Given the description of an element on the screen output the (x, y) to click on. 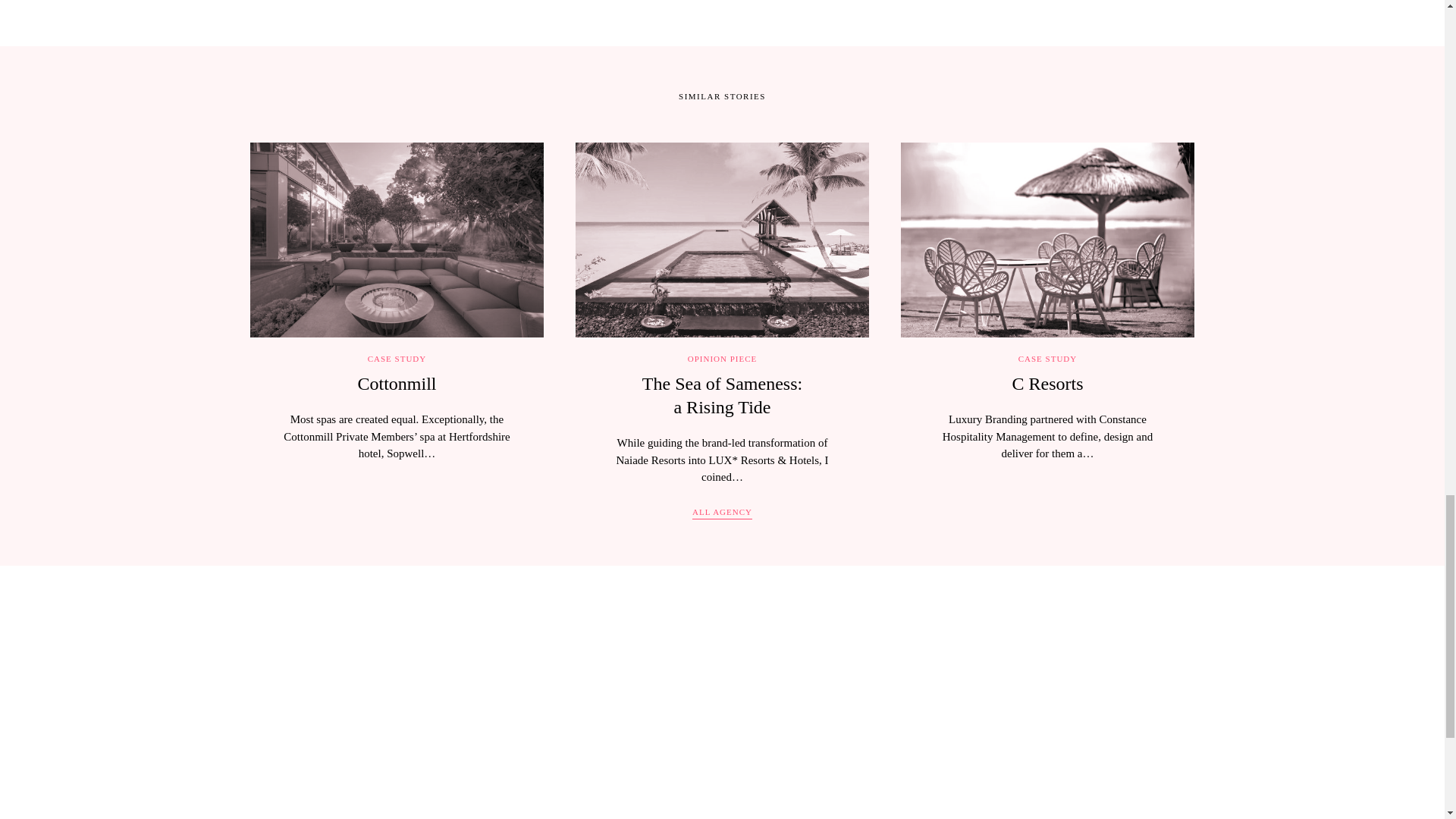
C Resorts (1047, 383)
Cottonmill (722, 394)
